Given the description of an element on the screen output the (x, y) to click on. 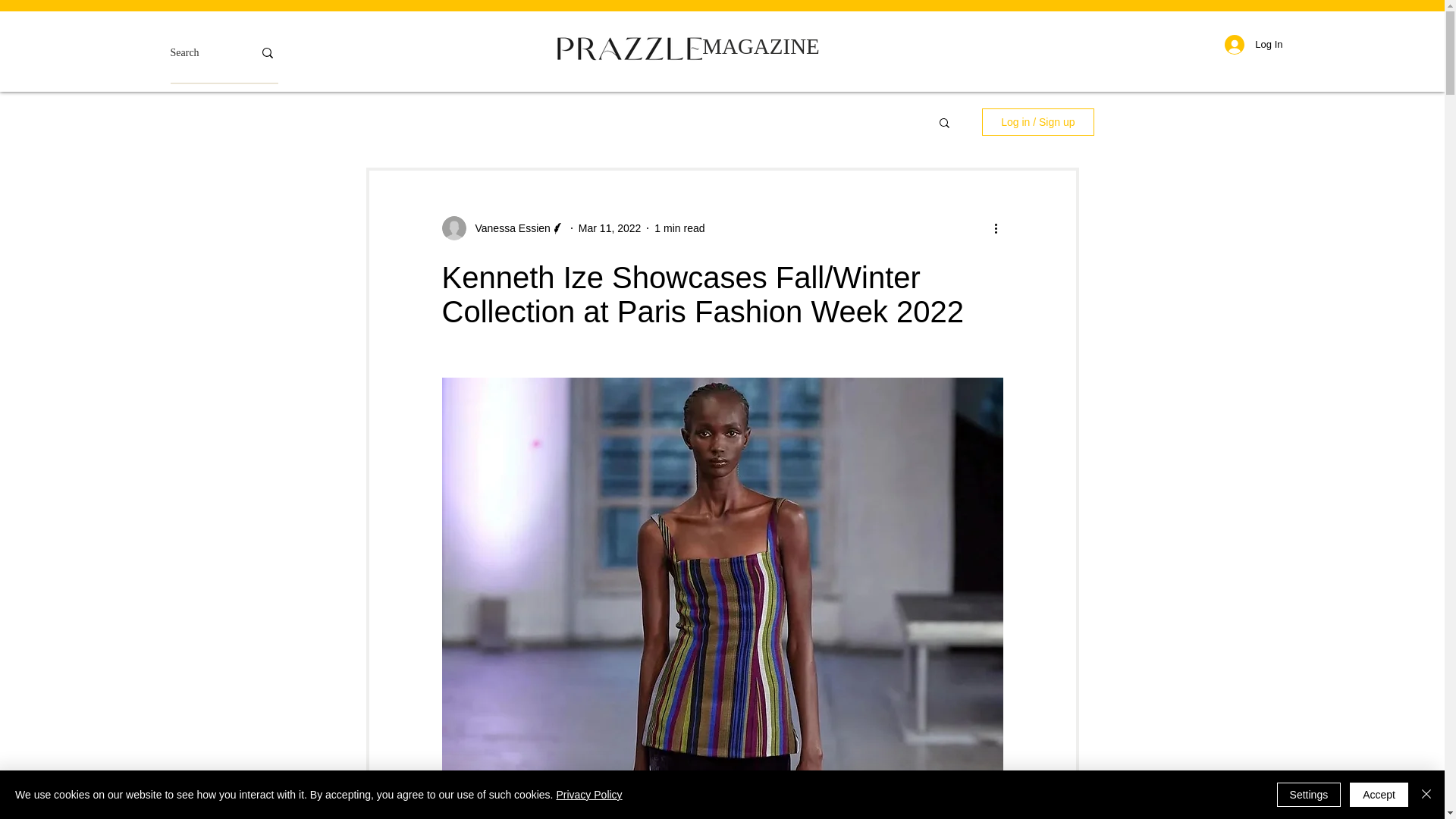
1 min read (678, 227)
Log In (1253, 44)
Vanessa Essien (502, 228)
Mar 11, 2022 (610, 227)
MAGAZINE (760, 46)
Vanessa Essien (507, 227)
